Given the description of an element on the screen output the (x, y) to click on. 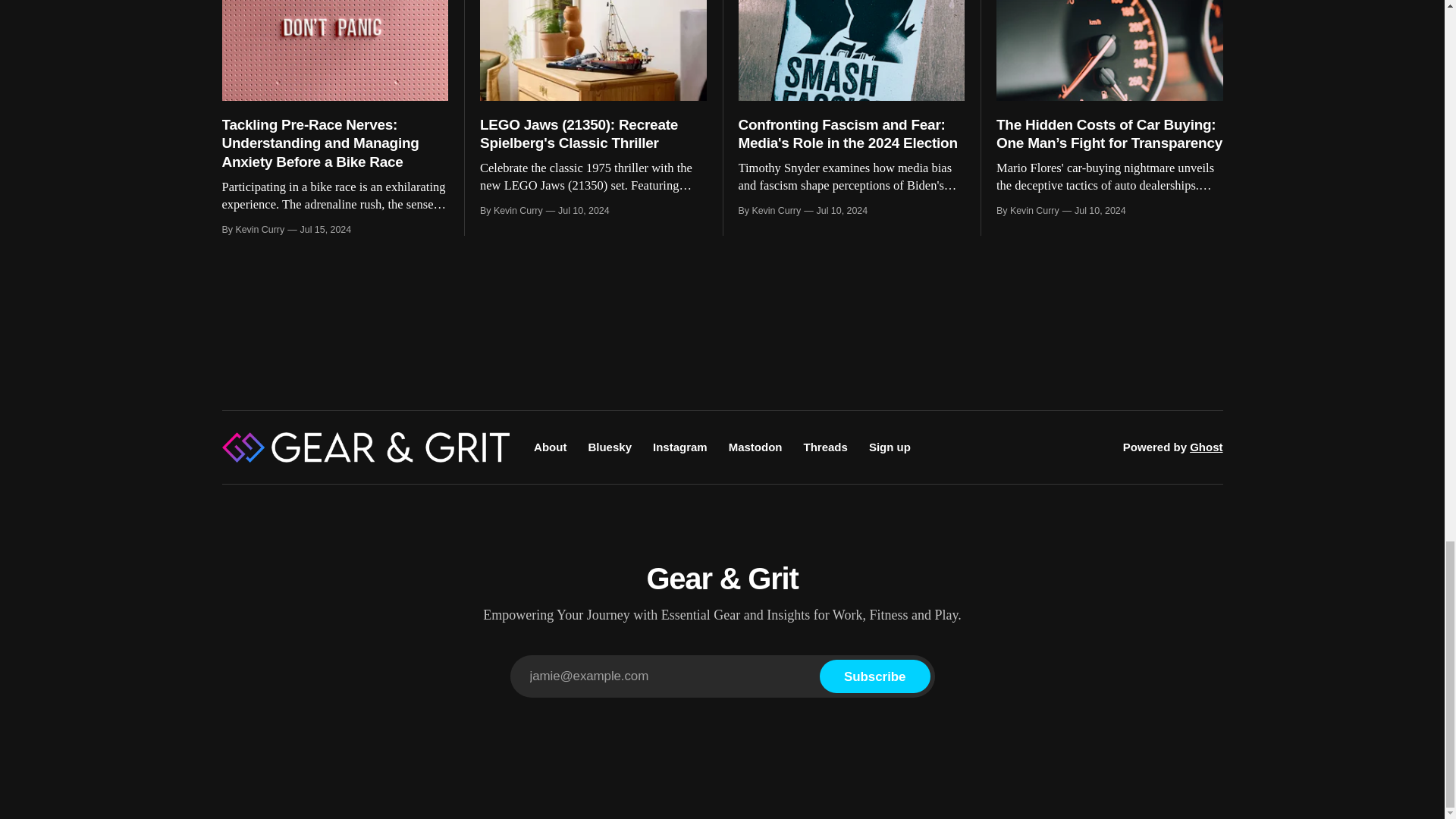
Subscribe (874, 676)
Bluesky (609, 446)
Ghost (1206, 446)
About (550, 446)
Instagram (679, 446)
Sign up (890, 446)
Threads (825, 446)
Mastodon (756, 446)
